Given the description of an element on the screen output the (x, y) to click on. 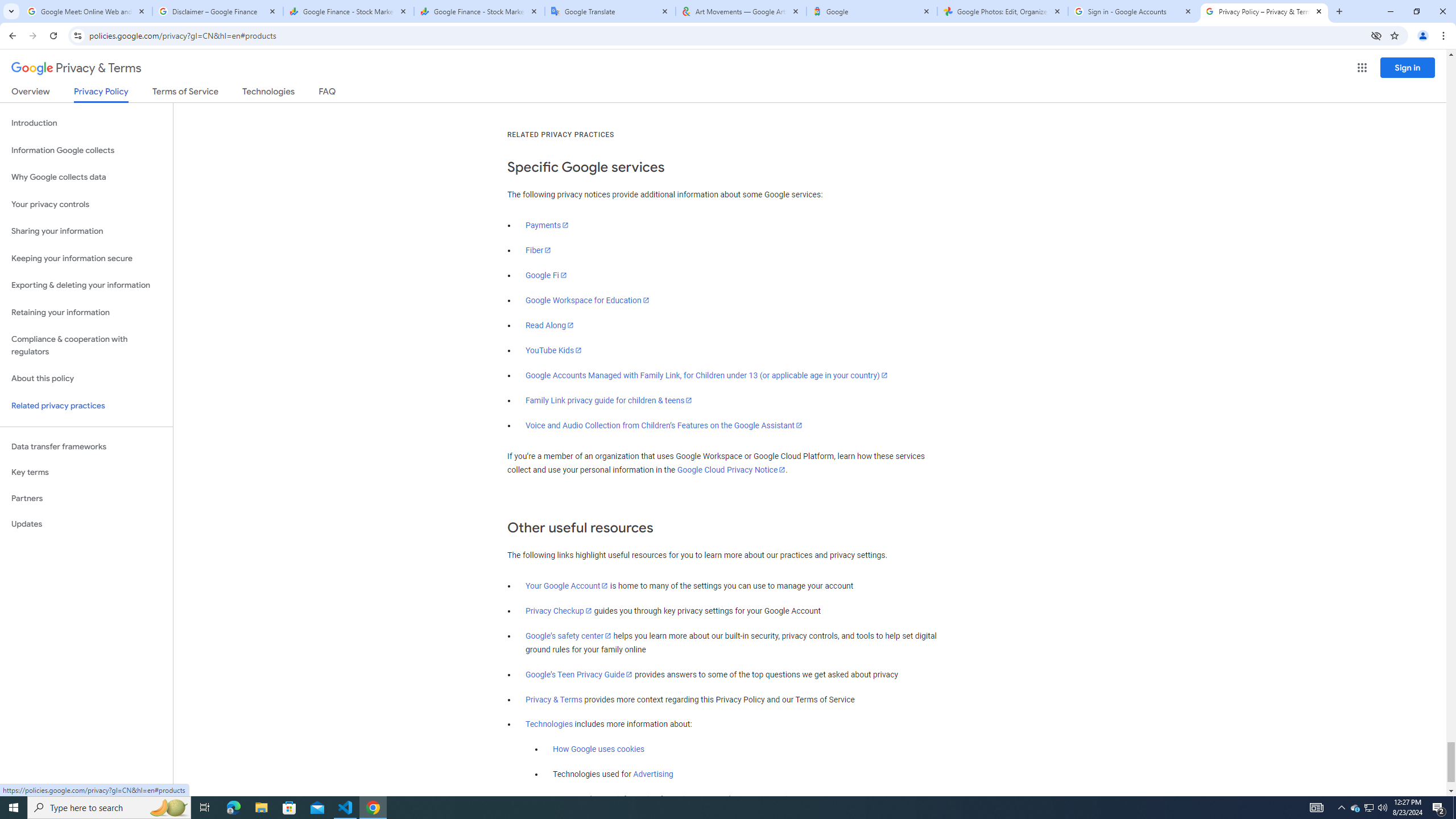
Google Workspace for Education (587, 299)
Google Cloud Privacy Notice (731, 469)
Your privacy controls (86, 204)
